Given the description of an element on the screen output the (x, y) to click on. 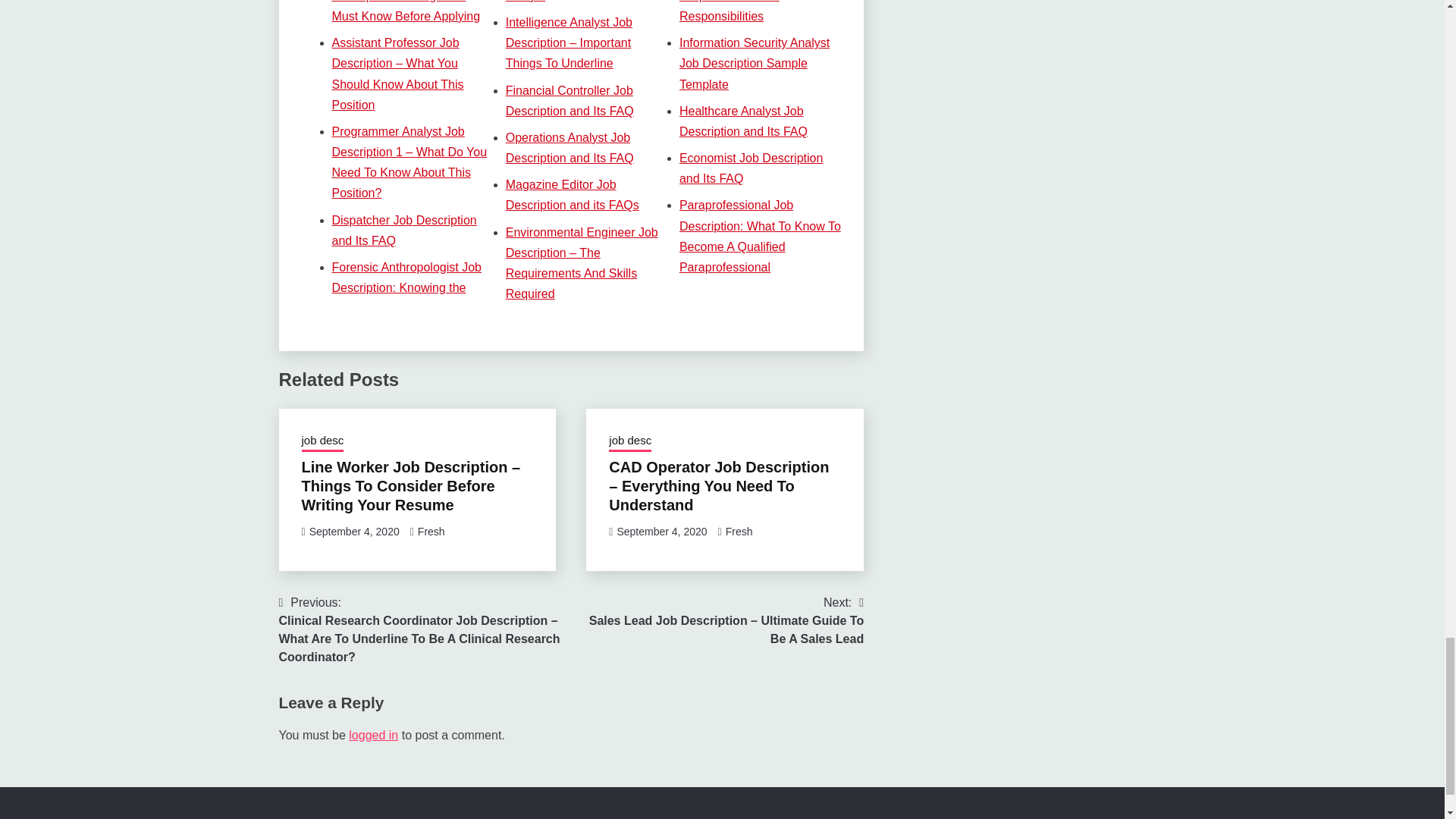
Dispatcher Job Description and Its FAQ (404, 230)
Dispatcher Job Description and Its FAQ (404, 230)
